Given the description of an element on the screen output the (x, y) to click on. 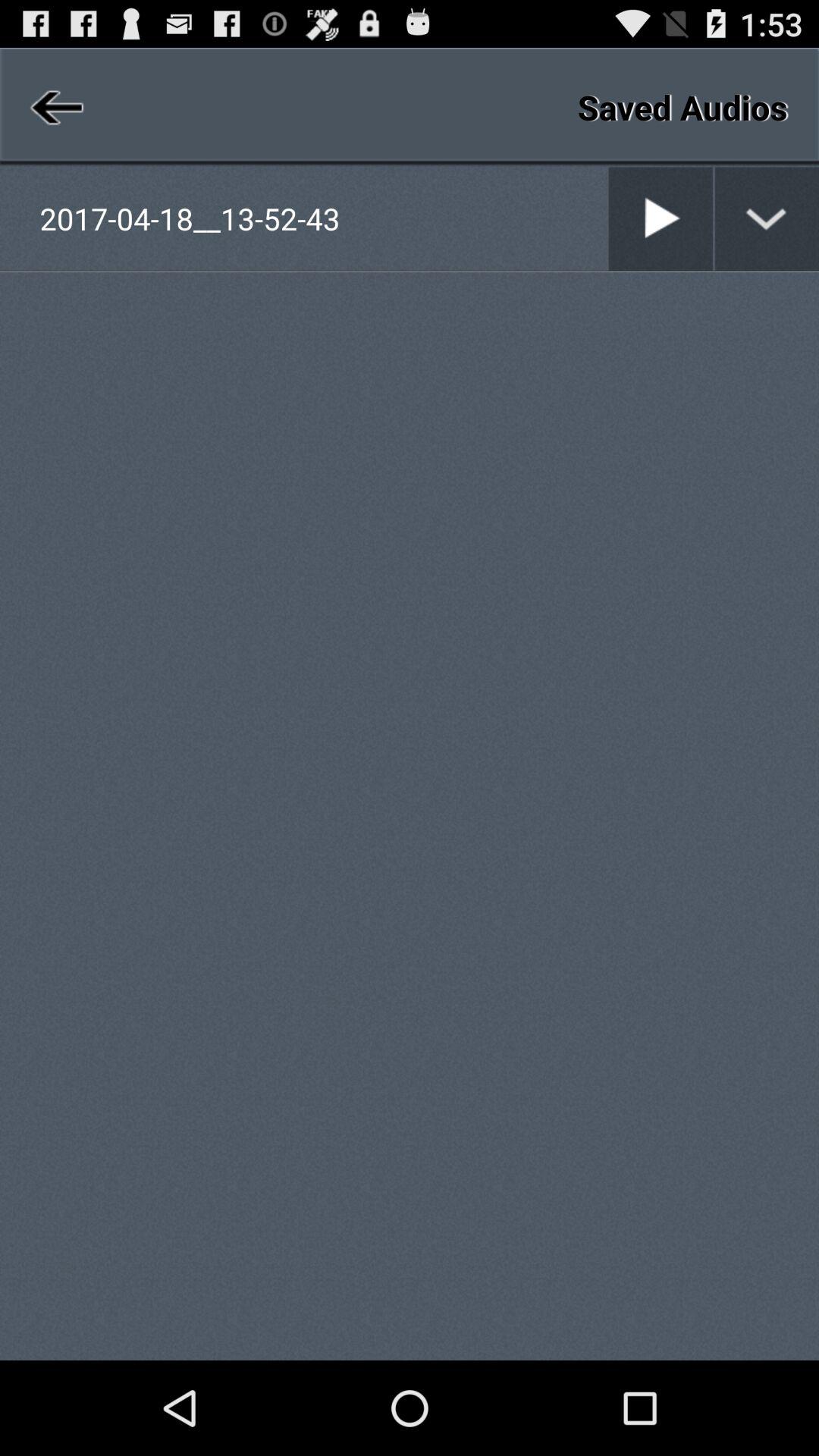
flip until the 2017 04 18__13 app (322, 218)
